Given the description of an element on the screen output the (x, y) to click on. 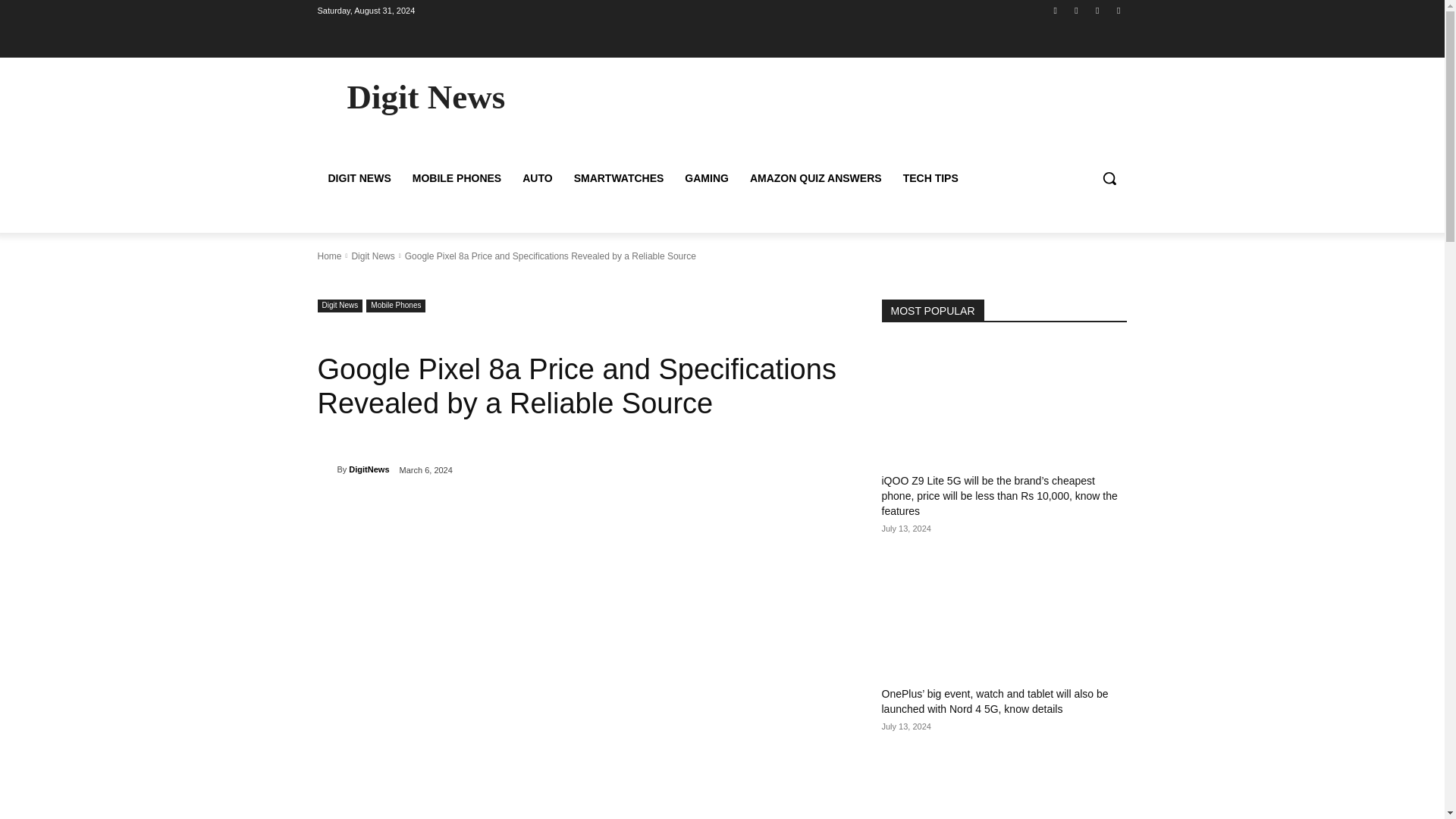
TECH TIPS (930, 176)
SMARTWATCHES (619, 176)
AMAZON QUIZ ANSWERS (815, 176)
View all posts in Digit News (372, 255)
DigitNews (326, 468)
Instagram (1075, 9)
Facebook (1055, 9)
Twitter (1097, 9)
DigitNews (368, 468)
Digit News (339, 305)
